Given the description of an element on the screen output the (x, y) to click on. 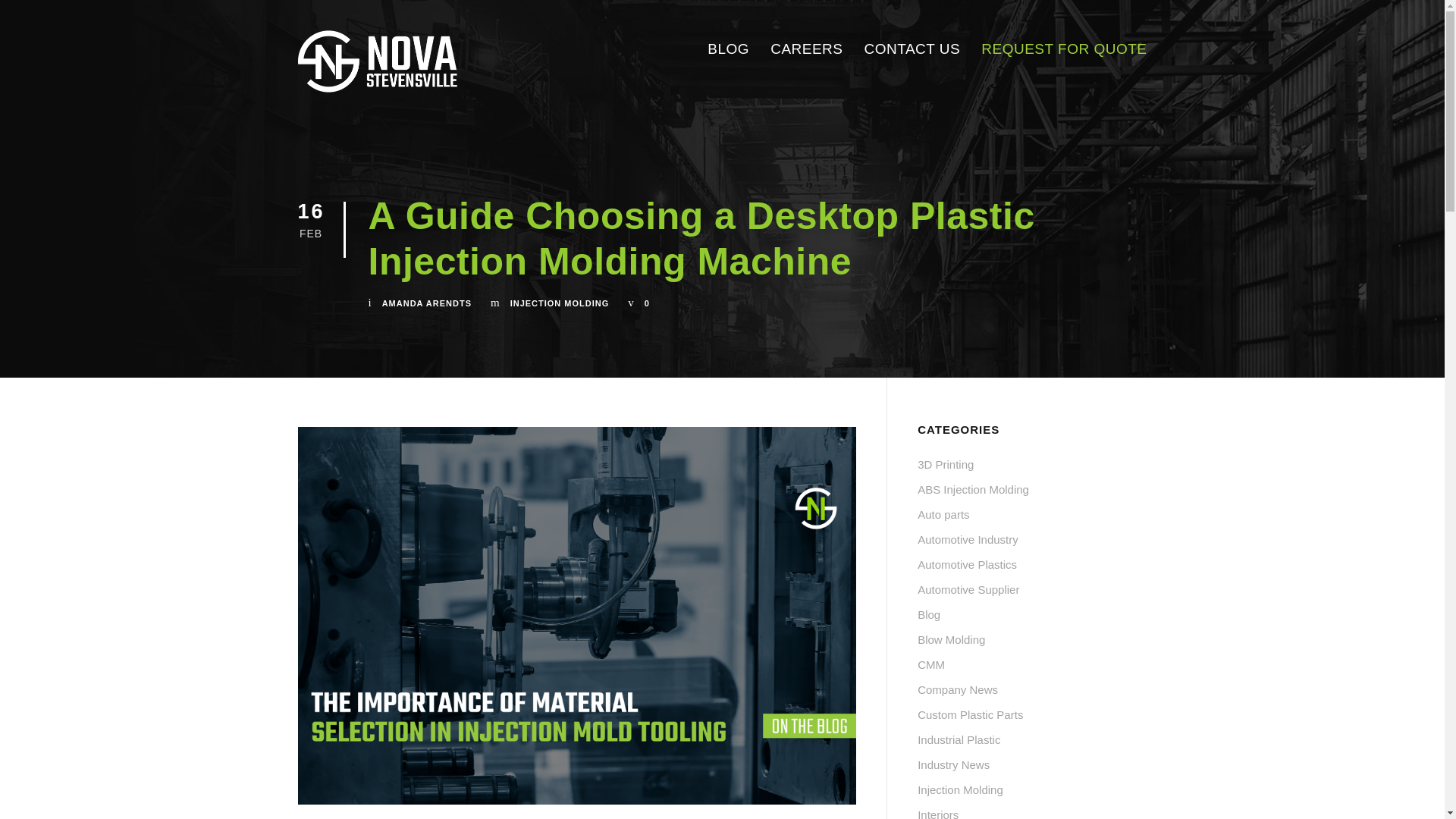
3D Printing (945, 463)
INJECTION MOLDING (560, 302)
Posts by Amanda Arendts (426, 302)
BLOG (728, 48)
CAREERS (806, 48)
REQUEST FOR QUOTE (1064, 48)
ABS Injection Molding (973, 489)
CONTACT US (912, 48)
AMANDA ARENDTS (426, 302)
Auto parts (943, 513)
